Given the description of an element on the screen output the (x, y) to click on. 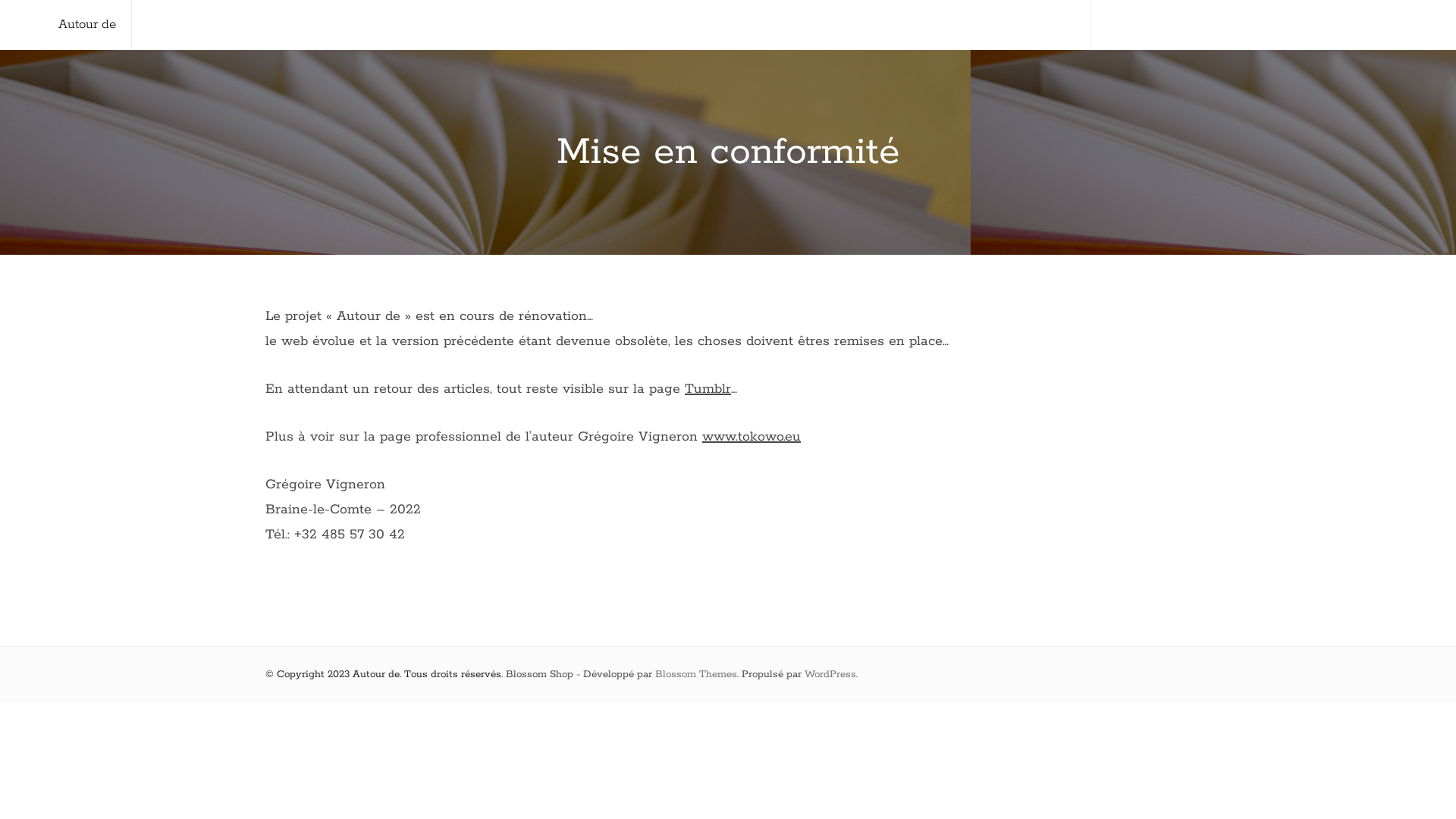
Blossom Themes Element type: text (696, 674)
Autour de Element type: text (87, 23)
www.tokowo.eu Element type: text (751, 436)
Tumblr Element type: text (707, 388)
WordPress Element type: text (830, 674)
Autour de Element type: text (375, 674)
